Given the description of an element on the screen output the (x, y) to click on. 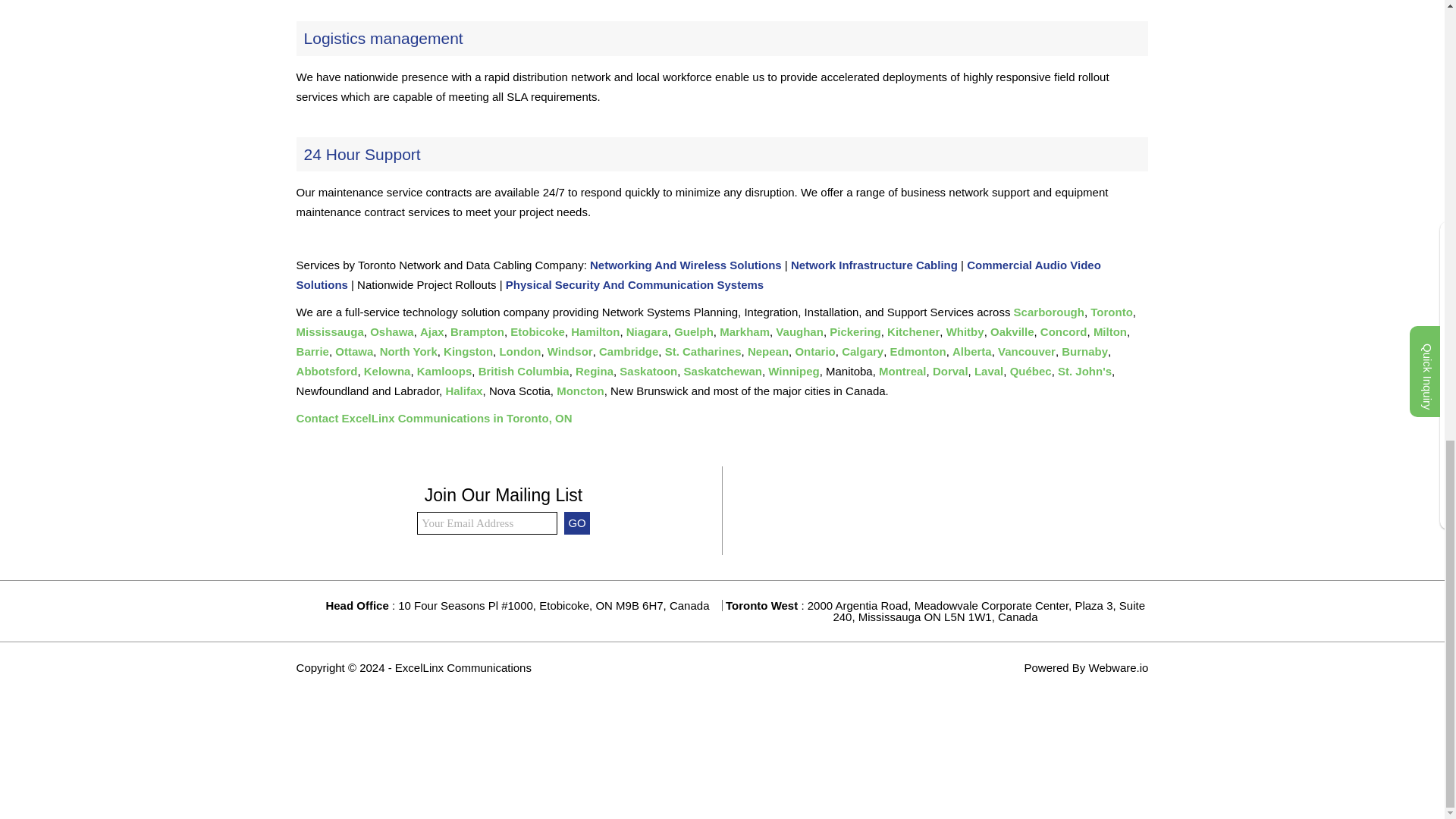
GO (576, 522)
Your Email Address (486, 522)
